Given the description of an element on the screen output the (x, y) to click on. 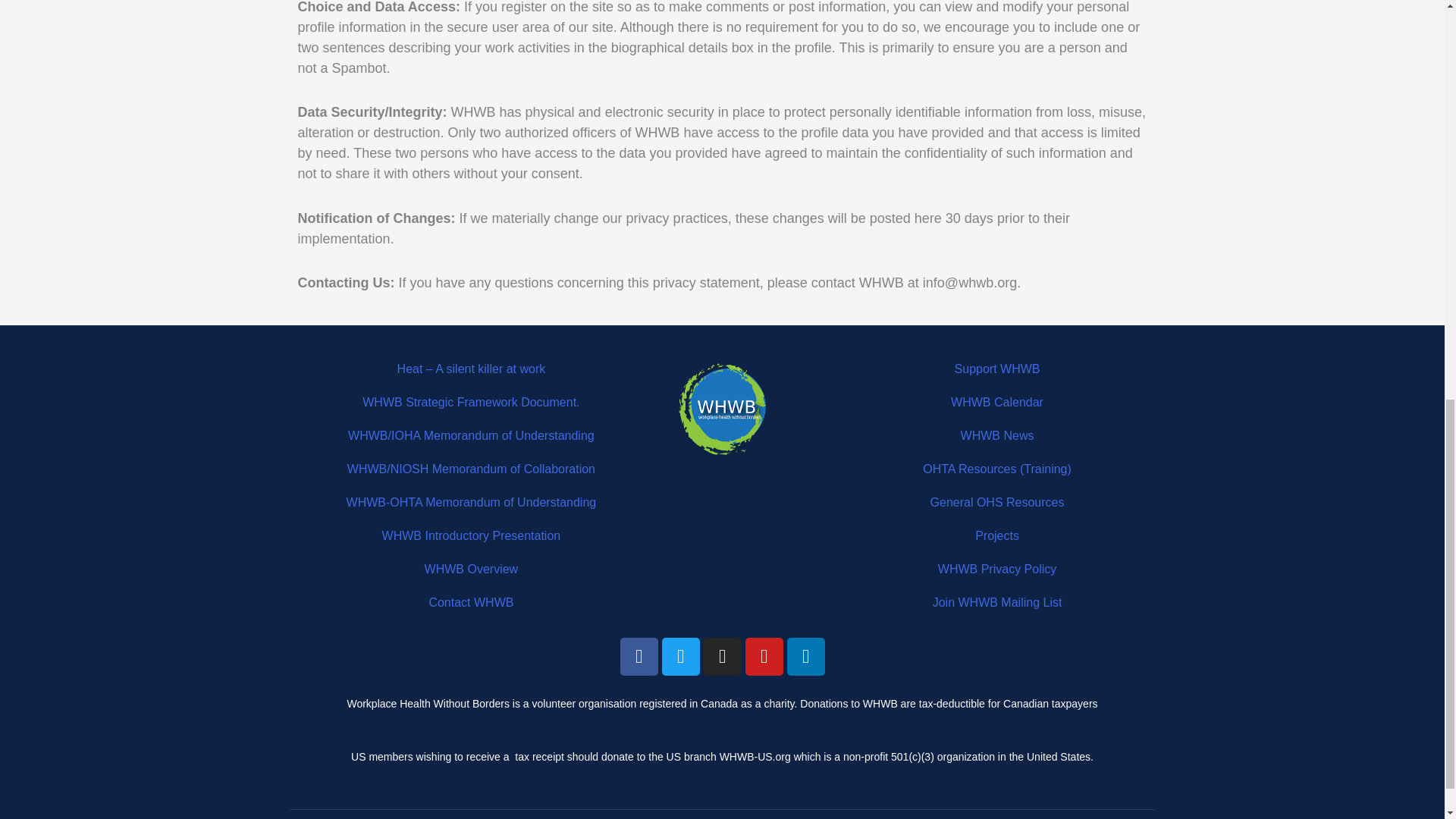
WHWB-OHTA Memorandum of Understanding (471, 502)
WHWB Overview (471, 568)
Contact WHWB (470, 602)
WHWB Introductory Presentation (470, 535)
WHWB Strategic Framework Document. (470, 401)
WHWB Calendar (996, 401)
Support WHWB (998, 368)
